Given the description of an element on the screen output the (x, y) to click on. 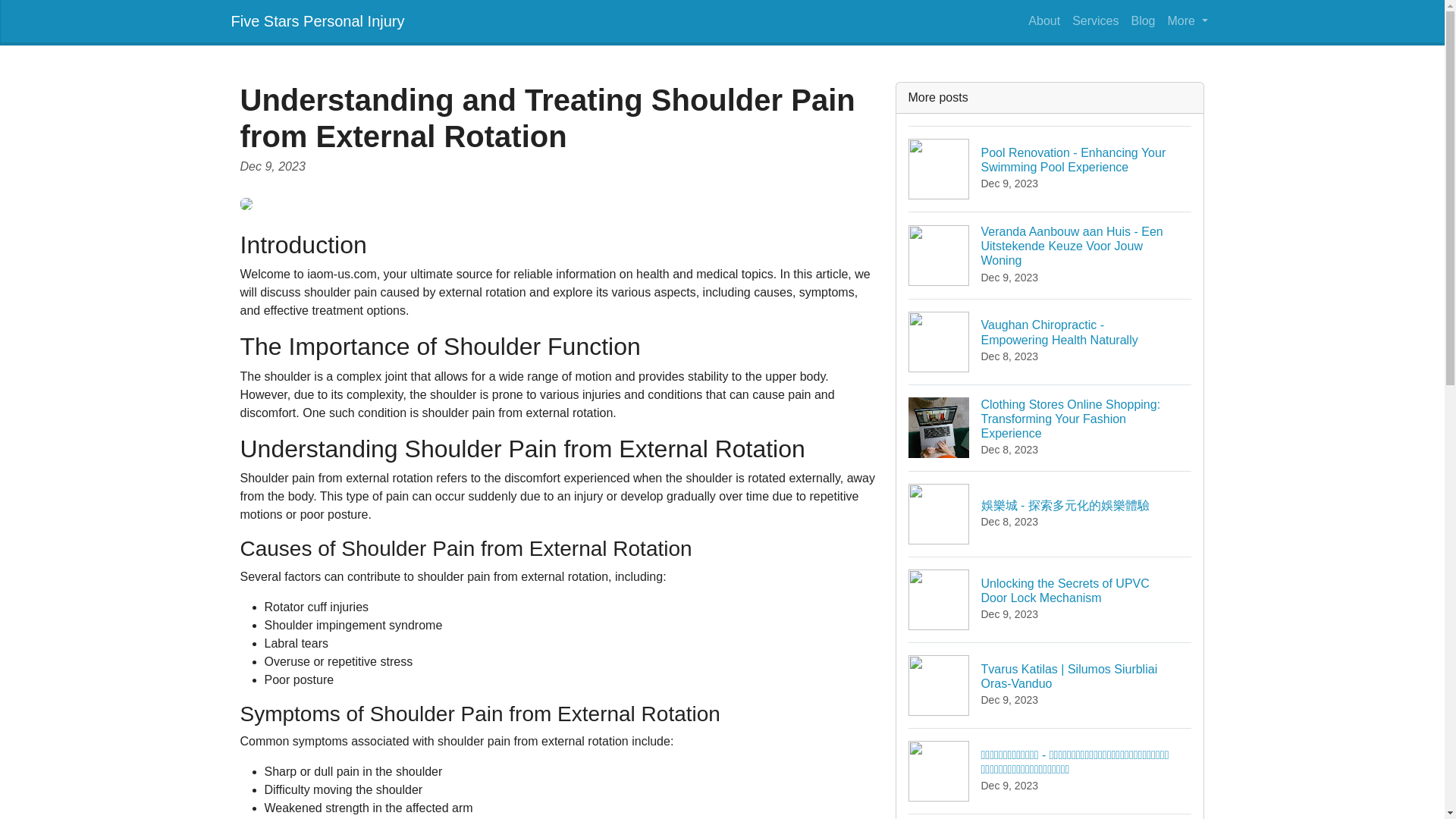
Services (1094, 20)
Five Stars Personal Injury (317, 20)
About (1043, 20)
Blog (1142, 20)
More (1187, 20)
